Given the description of an element on the screen output the (x, y) to click on. 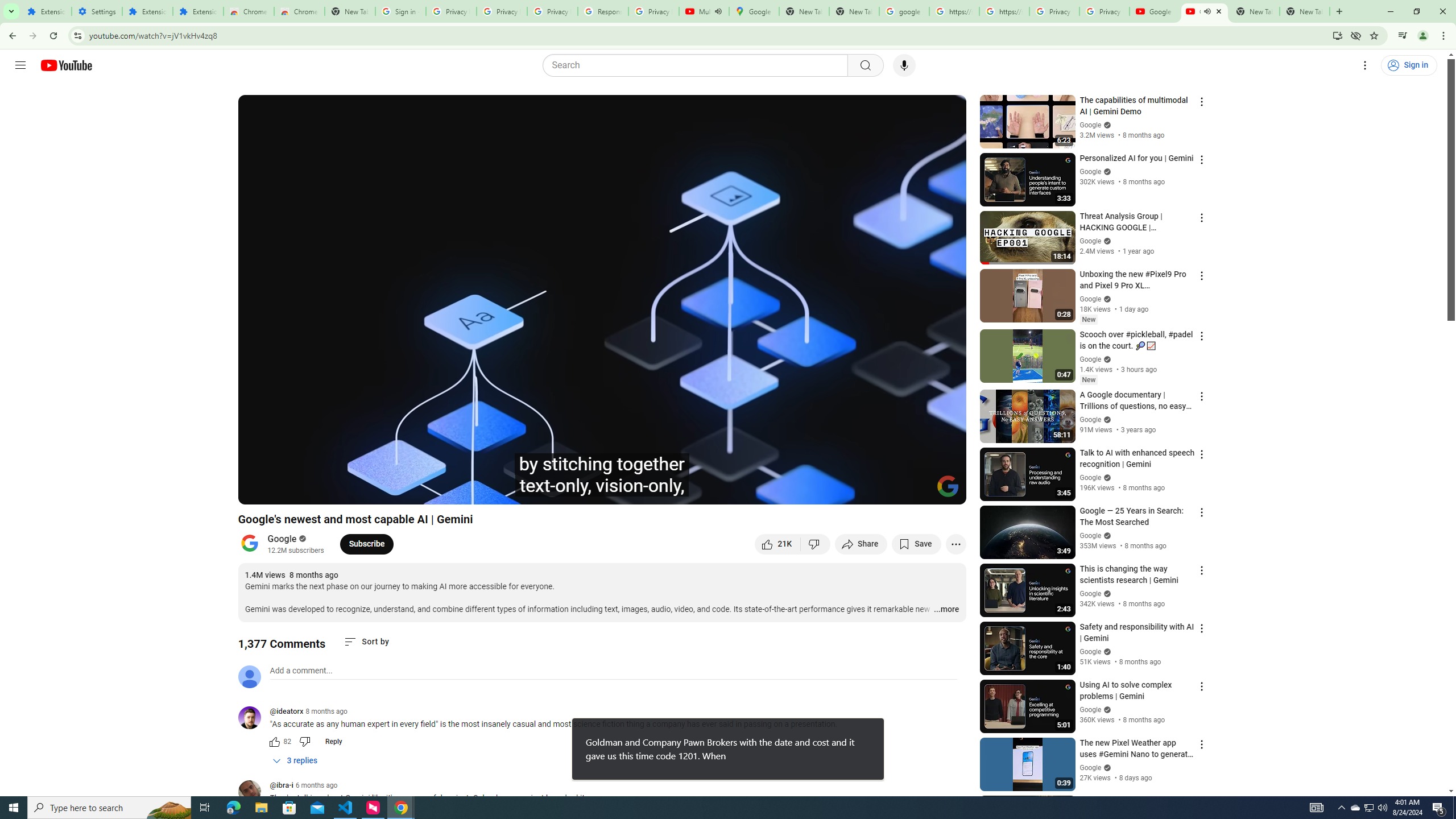
Default profile photo (248, 676)
Next (SHIFT+n) (284, 490)
Extensions (197, 11)
6 months ago (316, 785)
like this video along with 21,118 other people (777, 543)
@ibra-i (253, 792)
Guide (20, 65)
Channel watermark (947, 486)
